Given the description of an element on the screen output the (x, y) to click on. 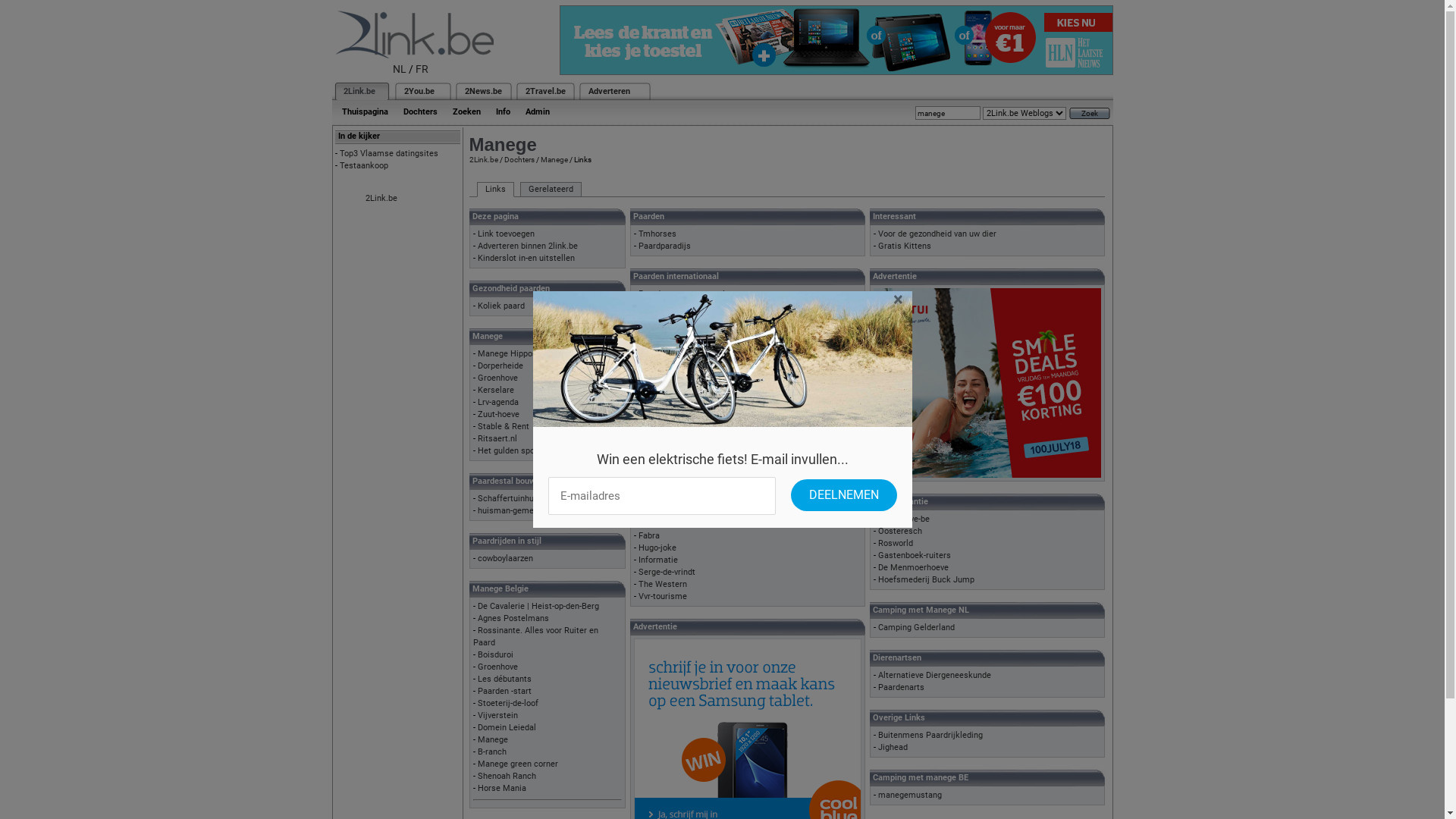
Hoefsmederij Buck Jump Element type: text (926, 579)
Vvr-tourisme Element type: text (662, 596)
Aachenbreed Element type: text (662, 523)
Jighead Element type: text (892, 747)
Paardparadijs Element type: text (664, 246)
Links Element type: text (494, 189)
NL Element type: text (399, 68)
Manege Hippos Element type: text (506, 353)
Link toevoegen Element type: text (505, 233)
Ijslandse Pony Element type: text (665, 439)
Nordpferde Element type: text (659, 342)
Agnes Postelmans Element type: text (513, 618)
Koliek paard Element type: text (500, 305)
Zuut-hoeve Element type: text (498, 414)
Vielseitigkeitsreiten Element type: text (676, 402)
B-ranch Element type: text (491, 751)
2Link.be Element type: text (381, 198)
Thuispagina Element type: text (364, 111)
Shenoah Ranch Element type: text (506, 776)
manegemustang Element type: text (909, 795)
De-roovere Element type: text (658, 318)
Stable & Rent Element type: text (503, 426)
Testaankoop Element type: text (363, 165)
Het gulden spoor Element type: text (509, 450)
Manege Element type: text (553, 159)
Horse Mania Element type: text (501, 788)
FR Element type: text (421, 68)
Wittelsbuerger Element type: text (666, 390)
Hobbyreiter Element type: text (660, 330)
Zoek Element type: text (1089, 113)
Manege green corner Element type: text (517, 763)
Rosworld Element type: text (895, 543)
Camping Gelderland Element type: text (916, 627)
Natural-horsemanship Element type: text (680, 451)
Paarde-sport sportpagina Element type: text (686, 293)
Domein Leiedal Element type: text (506, 727)
huisman-gemert Element type: text (508, 510)
Alternatieve Diergeneeskunde Element type: text (934, 675)
Manege Element type: text (492, 739)
Kerselare Element type: text (495, 390)
2News.be Element type: text (482, 91)
Buitenmens Paardrijkleding Element type: text (930, 735)
Dochters Element type: text (518, 159)
Halfter Element type: text (651, 427)
Serge-de-vrindt Element type: text (666, 572)
Dorperheide Element type: text (500, 365)
Boisduroi Element type: text (495, 654)
Informatie Element type: text (657, 559)
Tmhorses Element type: text (657, 233)
The Western Element type: text (662, 584)
Reitertipp Element type: text (656, 366)
Top3 Vlaamse datingsites Element type: text (388, 153)
Admin Element type: text (536, 111)
Paarden -start Element type: text (504, 691)
Zoeken Element type: text (465, 111)
Korona Element type: text (651, 305)
Adverteren binnen 2link.be Element type: text (527, 246)
2Travel.be Element type: text (544, 91)
Stoeterij-de-loof Element type: text (507, 703)
Groenhove-be Element type: text (903, 519)
Info Element type: text (502, 111)
Groenhove Element type: text (497, 666)
Schaffertuinhuizen en paardenstallen Element type: text (547, 498)
Gastenboek-ruiters Element type: text (914, 555)
Paardenarts Element type: text (901, 687)
Gratis Kittens Element type: text (904, 246)
De Menmoerhoeve Element type: text (913, 567)
Hippomakelaar Element type: text (667, 463)
2Link.be Element type: text (482, 159)
Oosteresch Element type: text (900, 531)
Reitermarkt Element type: text (661, 378)
2You.be Element type: text (418, 91)
2Link.be Element type: text (358, 91)
Kinderslot in-en uitstellen Element type: text (525, 258)
Rossinante. Alles voor Ruiter en Paard Element type: text (535, 636)
Adverteren Element type: text (609, 91)
Vijverstein Element type: text (497, 715)
De Cavalerie | Heist-op-den-Berg Element type: text (538, 606)
Hugo-joke Element type: text (657, 547)
Pferde-nordhessen Element type: text (673, 354)
Voor de gezondheid van uw dier Element type: text (937, 233)
Horsebox Element type: text (656, 415)
Ritsaert.nl Element type: text (497, 438)
cowboylaarzen Element type: text (505, 558)
Gerelateerd Element type: text (550, 189)
Paarden Info Element type: text (662, 511)
Dochters Element type: text (420, 111)
Lrv-agenda Element type: text (497, 402)
Fabra Element type: text (648, 535)
Groenhove Element type: text (497, 377)
